Given the description of an element on the screen output the (x, y) to click on. 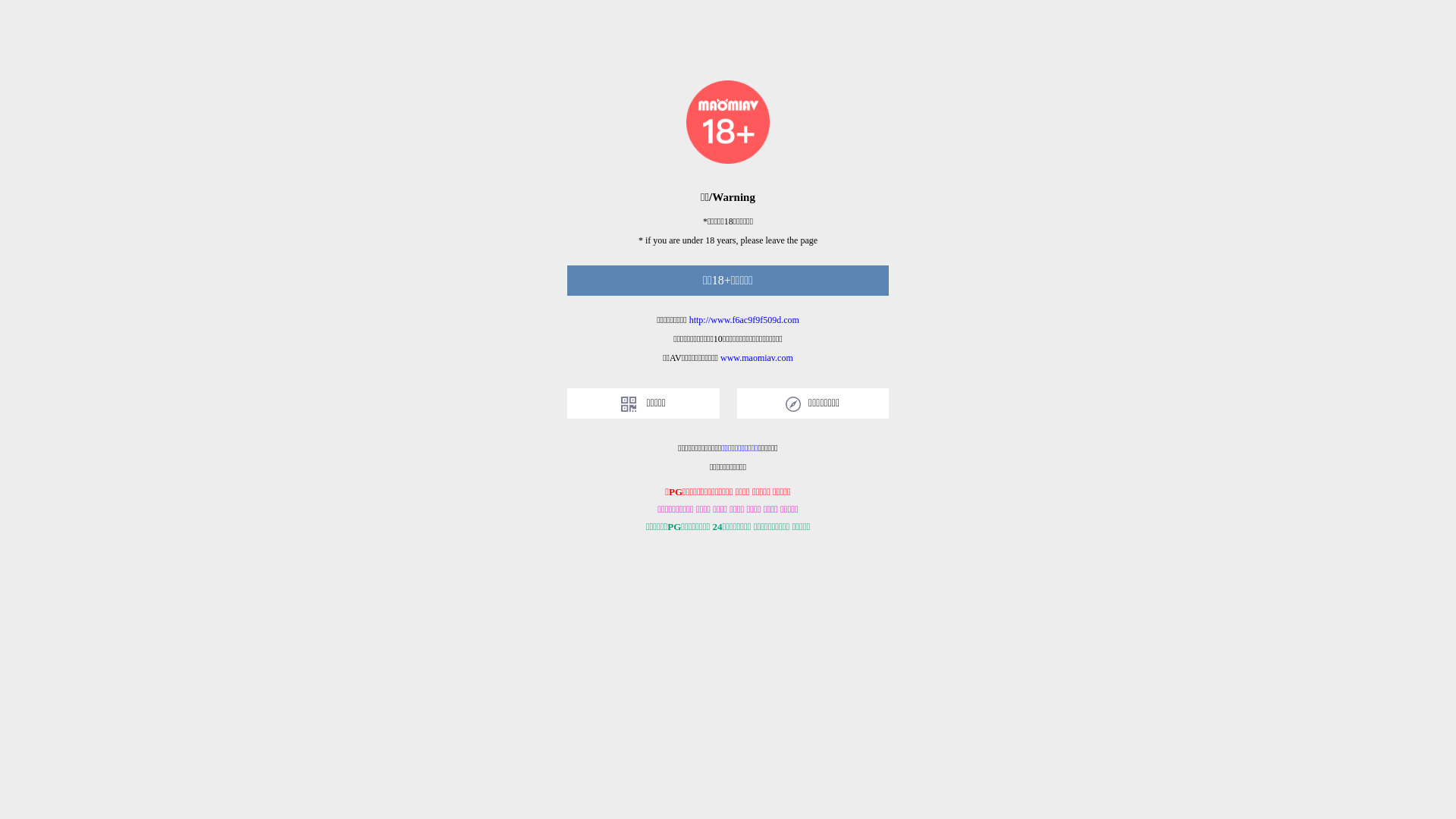
www.maomiav.com Element type: text (756, 357)
http://www.f6ac9f9f509d.com Element type: text (744, 319)
